Given the description of an element on the screen output the (x, y) to click on. 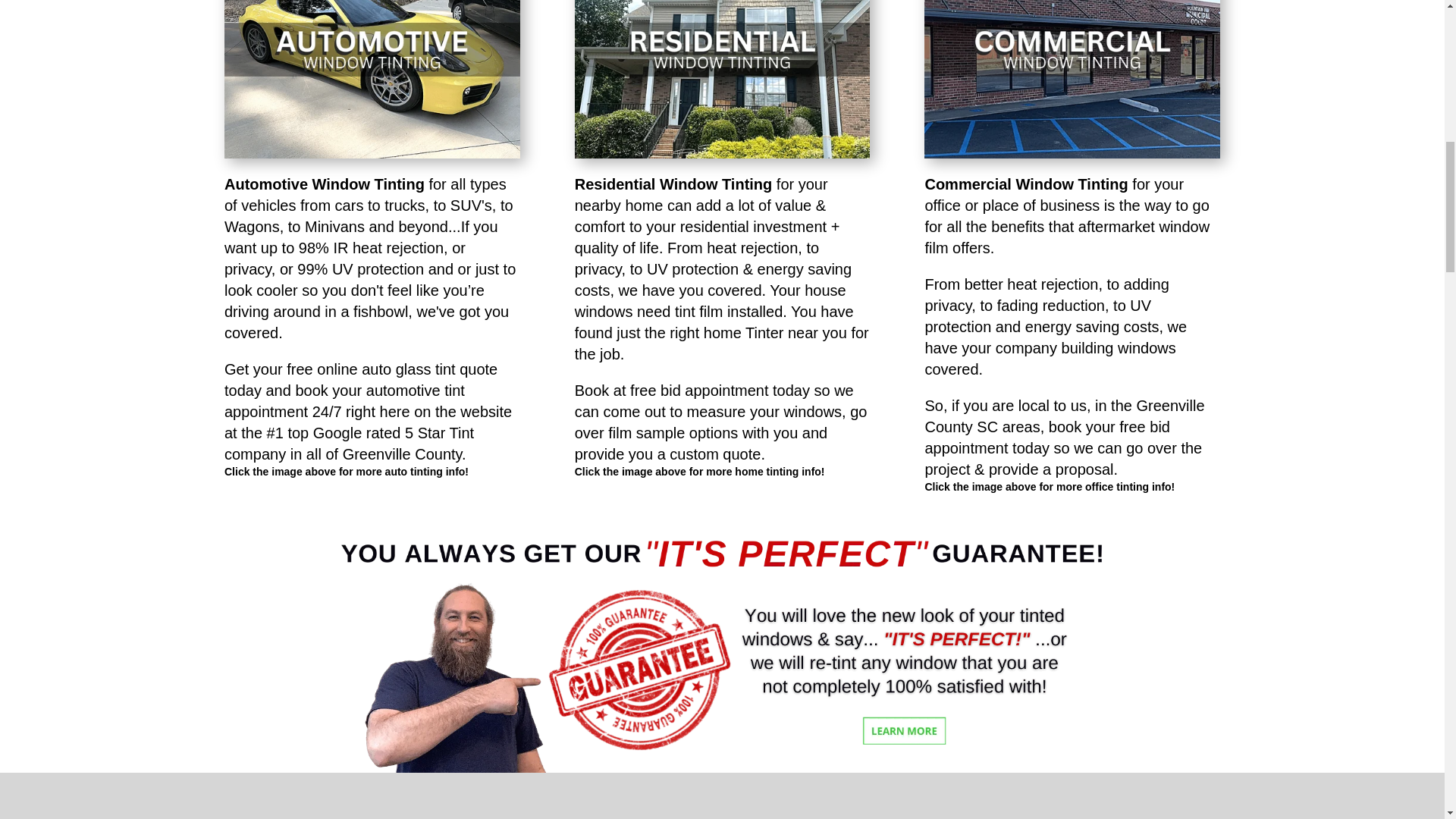
Commercial Window Tinting Services (1072, 79)
Automotive Window Tinting (324, 184)
Commercial Window Tinting (1025, 184)
Residential Window Tinting (674, 184)
Residential Window Tinting Services (722, 79)
Automotive Window Tinting Services (371, 79)
